Given the description of an element on the screen output the (x, y) to click on. 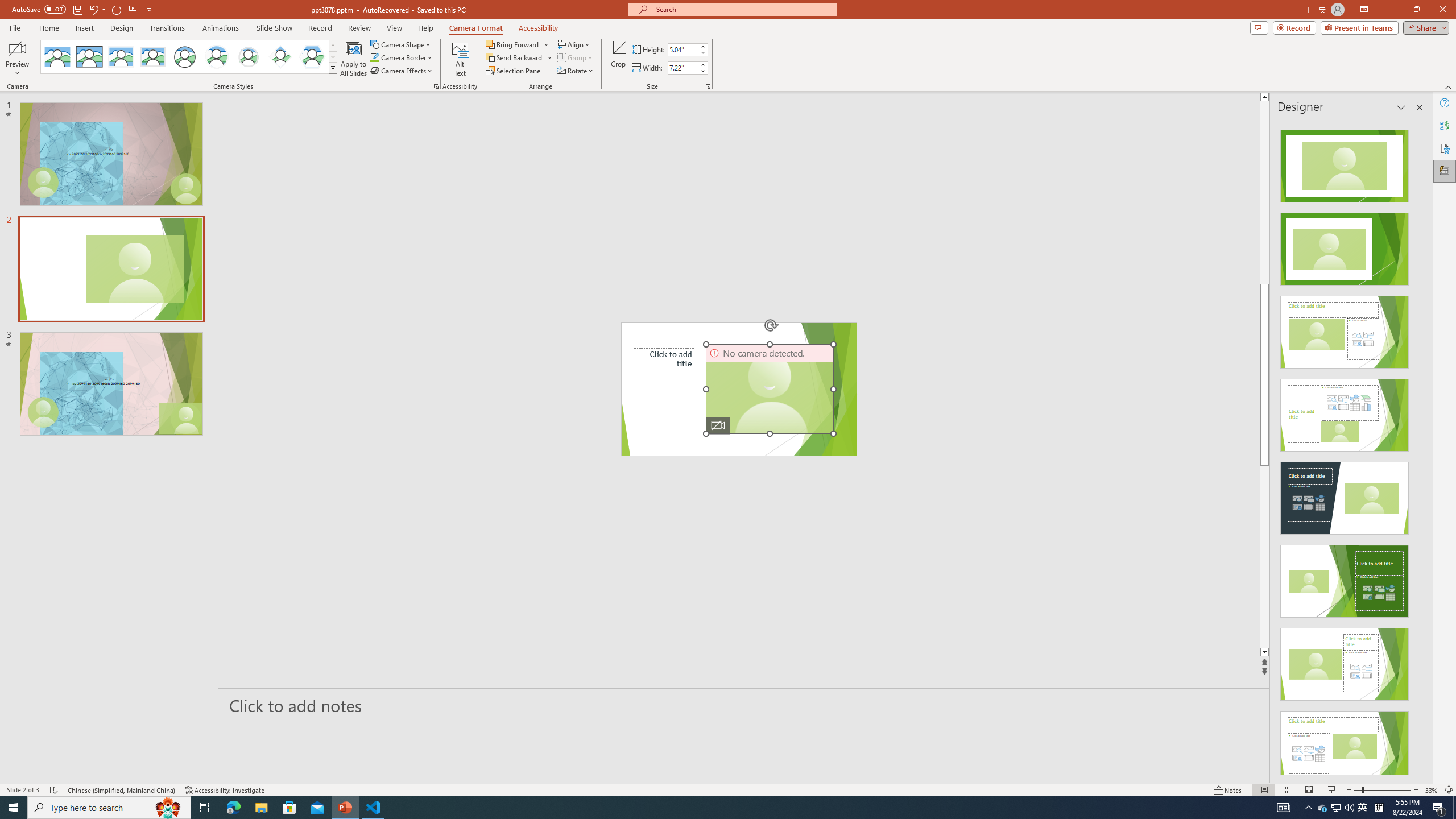
Camera 3, No camera detected. (769, 388)
Size and Position... (707, 85)
Title TextBox (663, 389)
Align (574, 44)
